Given the description of an element on the screen output the (x, y) to click on. 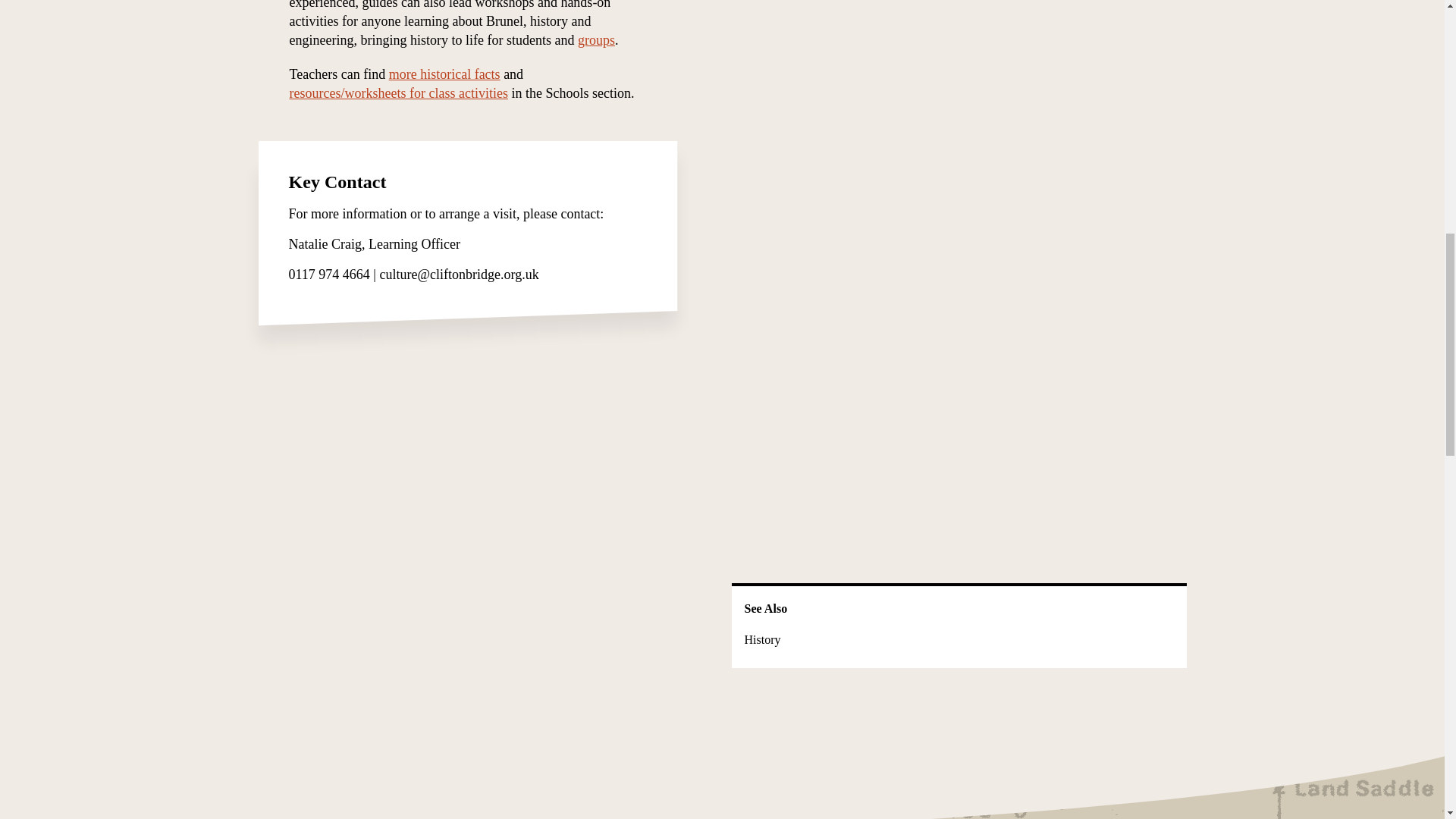
more historical facts (444, 73)
History (958, 639)
groups (596, 39)
0117 974 4664 (328, 273)
